Given the description of an element on the screen output the (x, y) to click on. 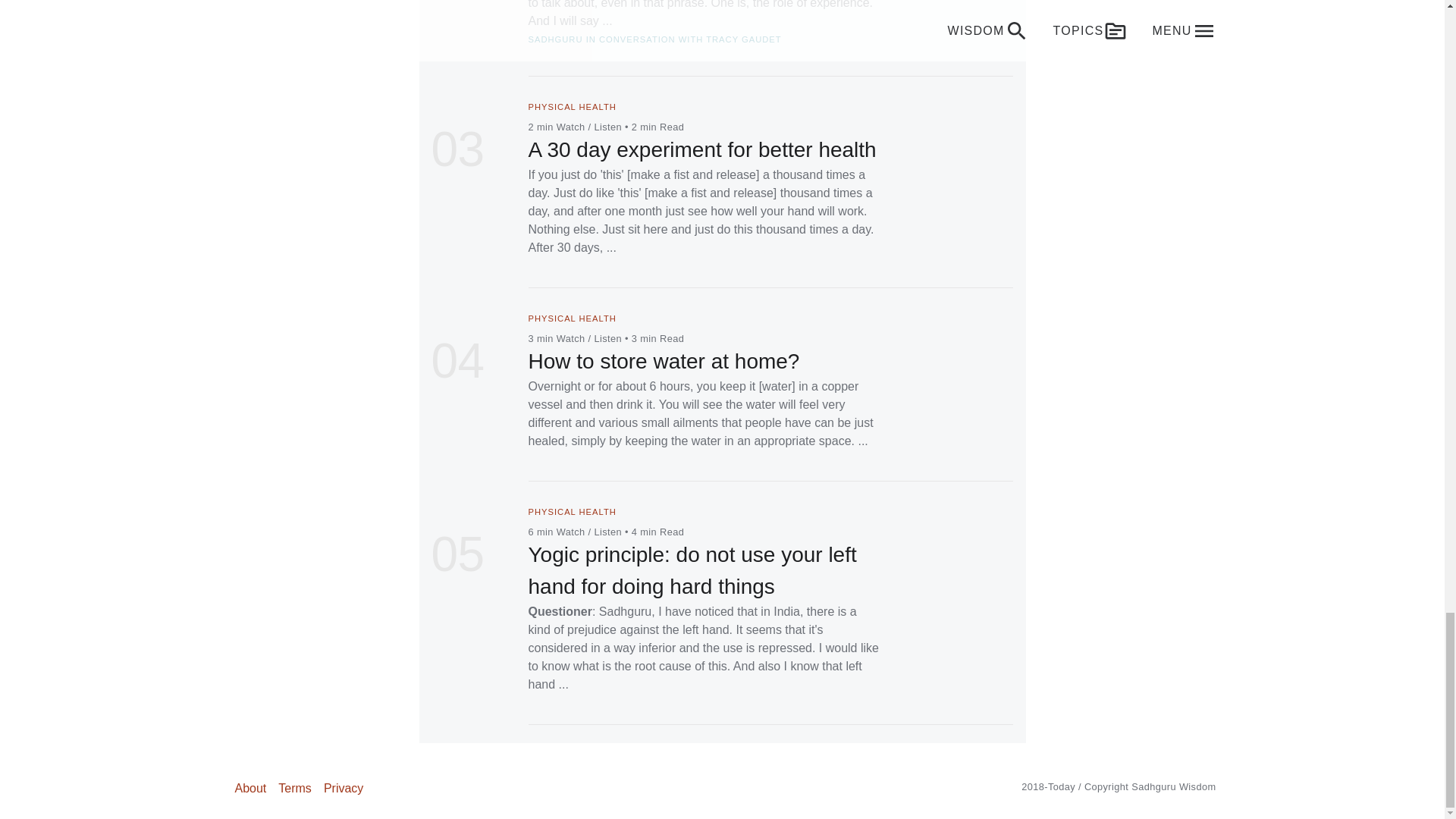
Terms (294, 788)
Privacy (343, 788)
PHYSICAL HEALTH (571, 106)
About (250, 788)
PHYSICAL HEALTH (571, 317)
PHYSICAL HEALTH (571, 511)
